Given the description of an element on the screen output the (x, y) to click on. 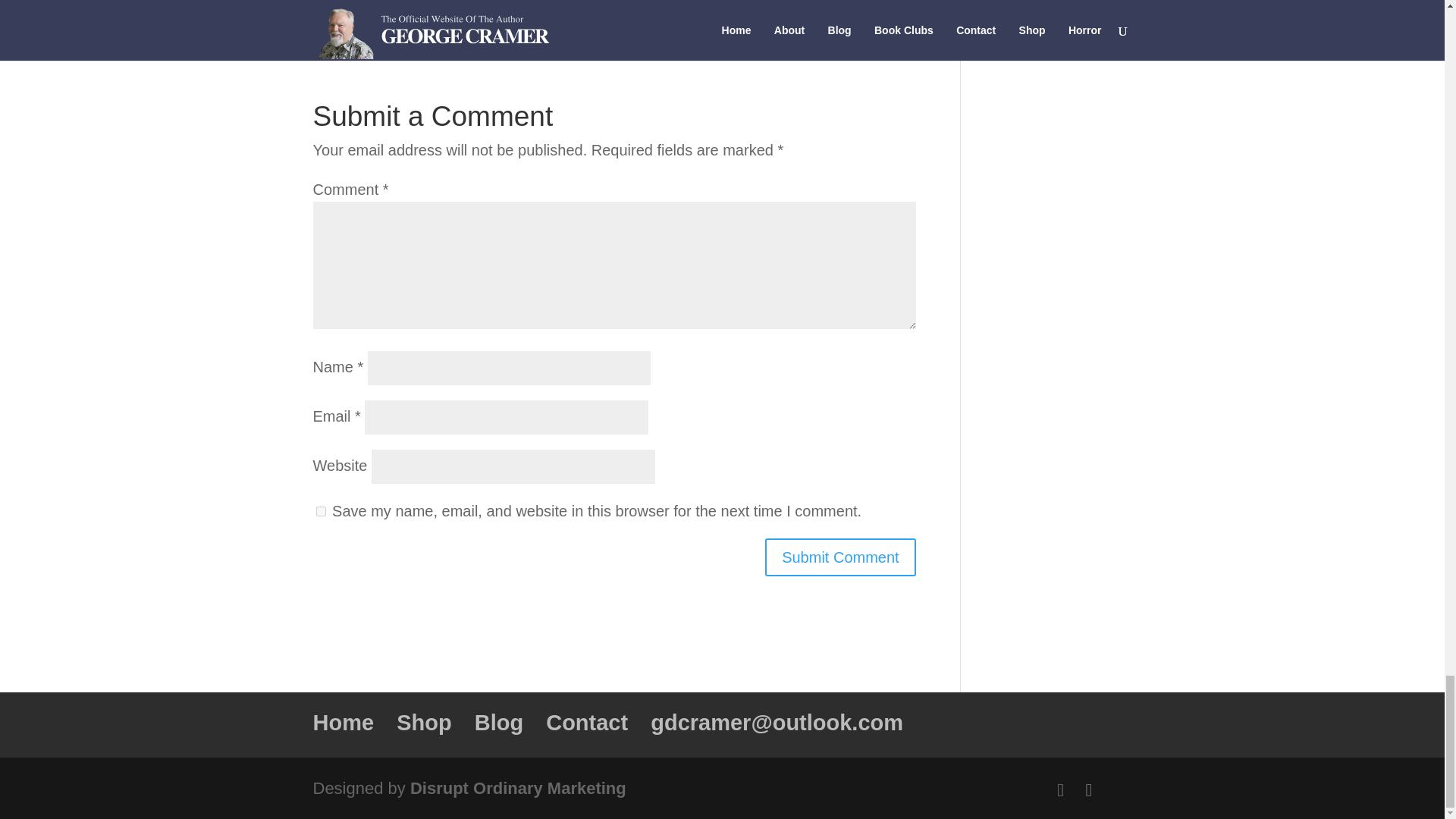
yes (319, 511)
Submit Comment (840, 557)
Submit Comment (840, 557)
